Given the description of an element on the screen output the (x, y) to click on. 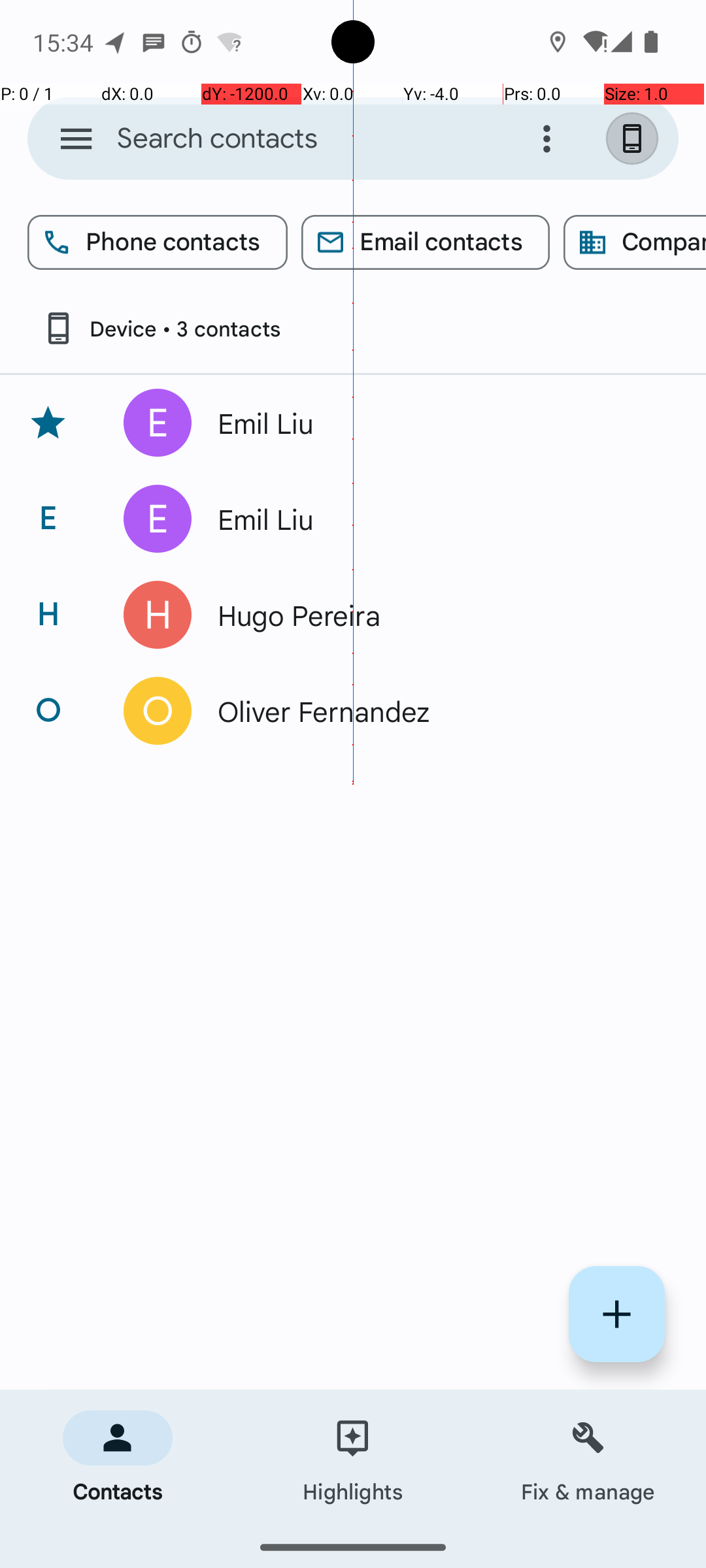
Device • 3 contacts Element type: android.widget.TextView (161, 328)
Emil Liu Element type: android.widget.TextView (434, 422)
Hugo Pereira Element type: android.widget.TextView (434, 614)
Oliver Fernandez Element type: android.widget.TextView (434, 710)
